Given the description of an element on the screen output the (x, y) to click on. 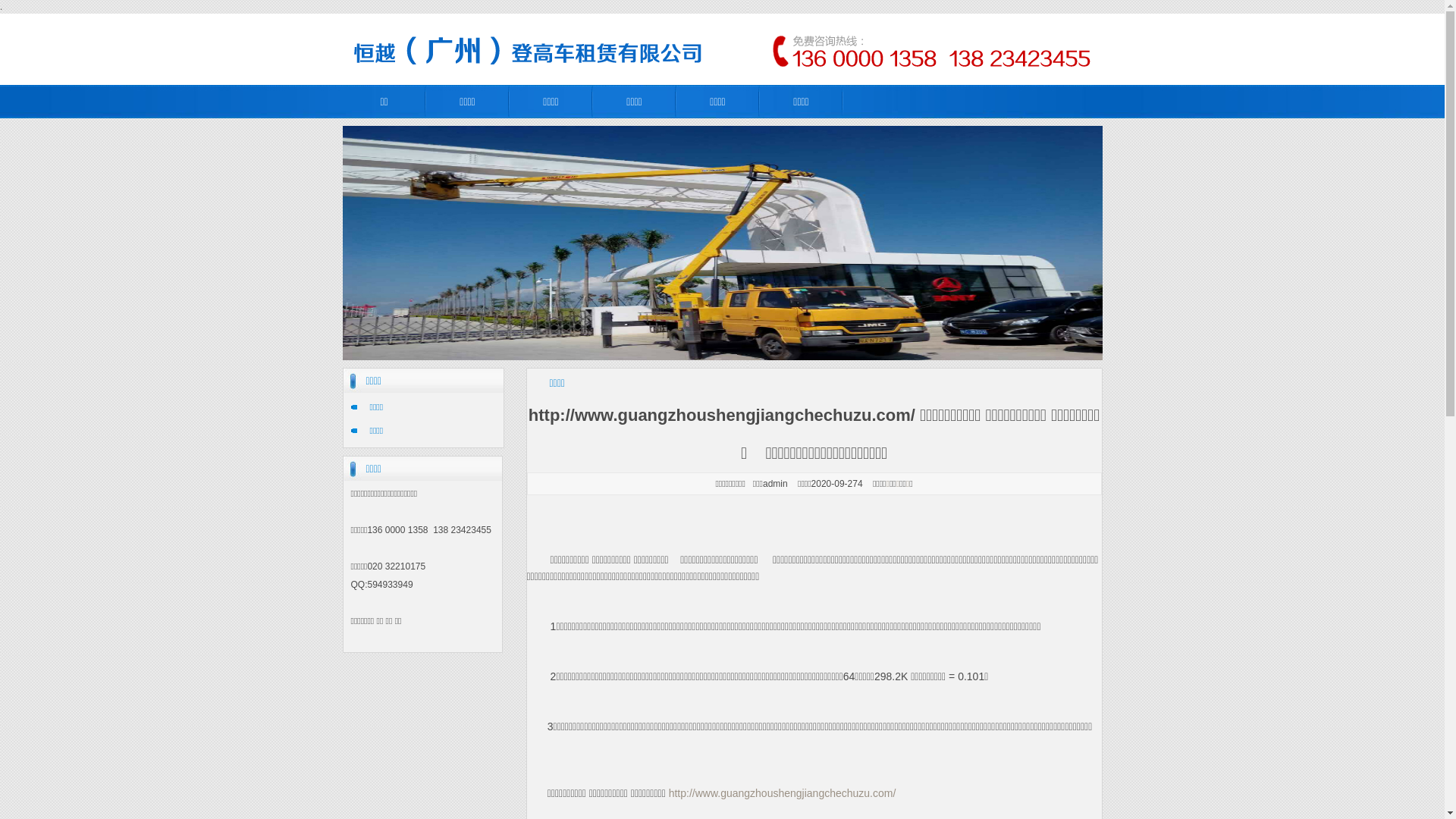
test Element type: hover (721, 48)
http://www.guangzhoushengjiangchechuzu.com/ Element type: text (782, 793)
  Element type: text (527, 809)
banner Element type: hover (722, 242)
